Given the description of an element on the screen output the (x, y) to click on. 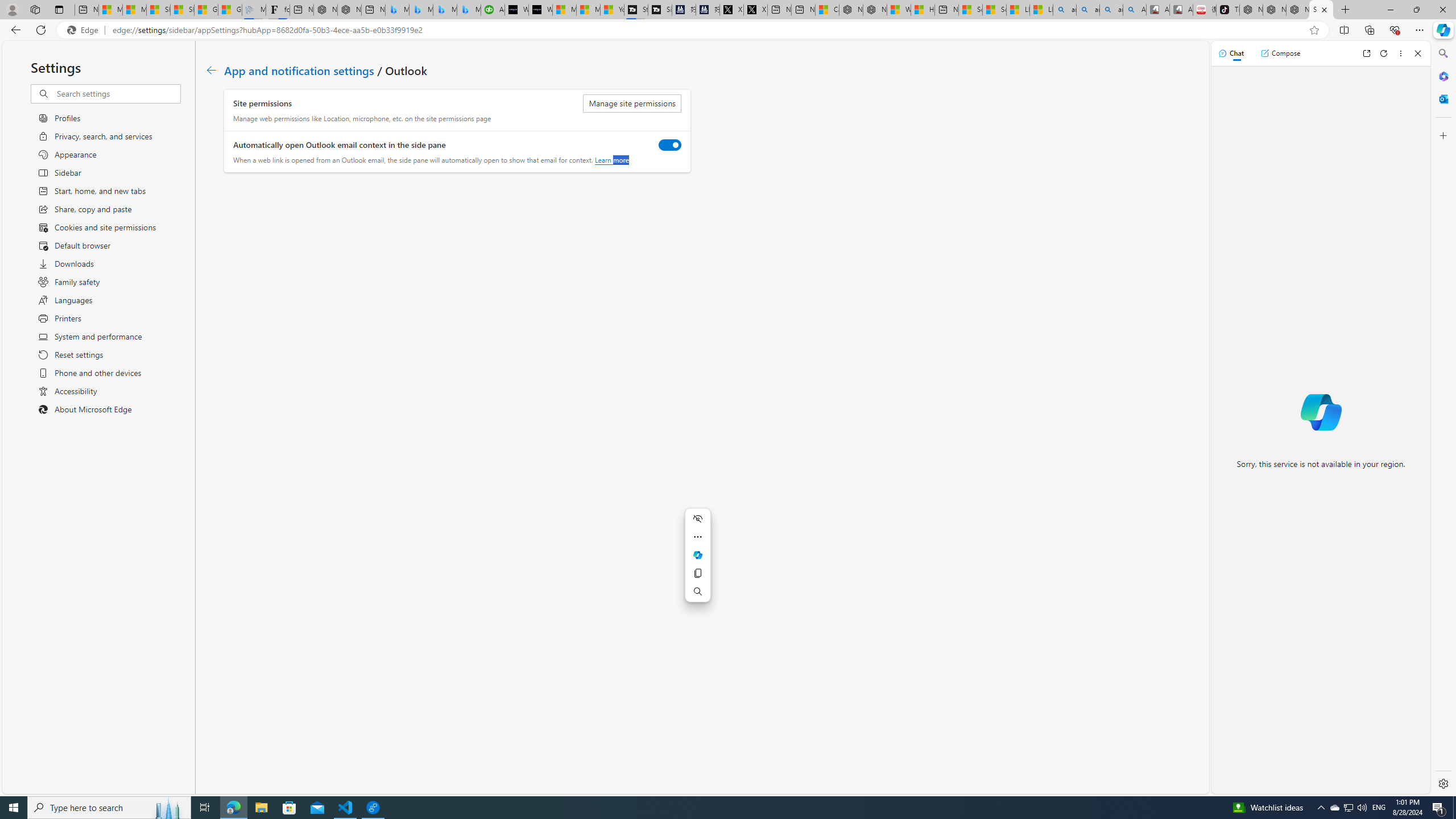
More actions (697, 536)
Side bar (1443, 418)
Hide menu (697, 518)
Nordace Siena Pro 15 Backpack (1274, 9)
